Given the description of an element on the screen output the (x, y) to click on. 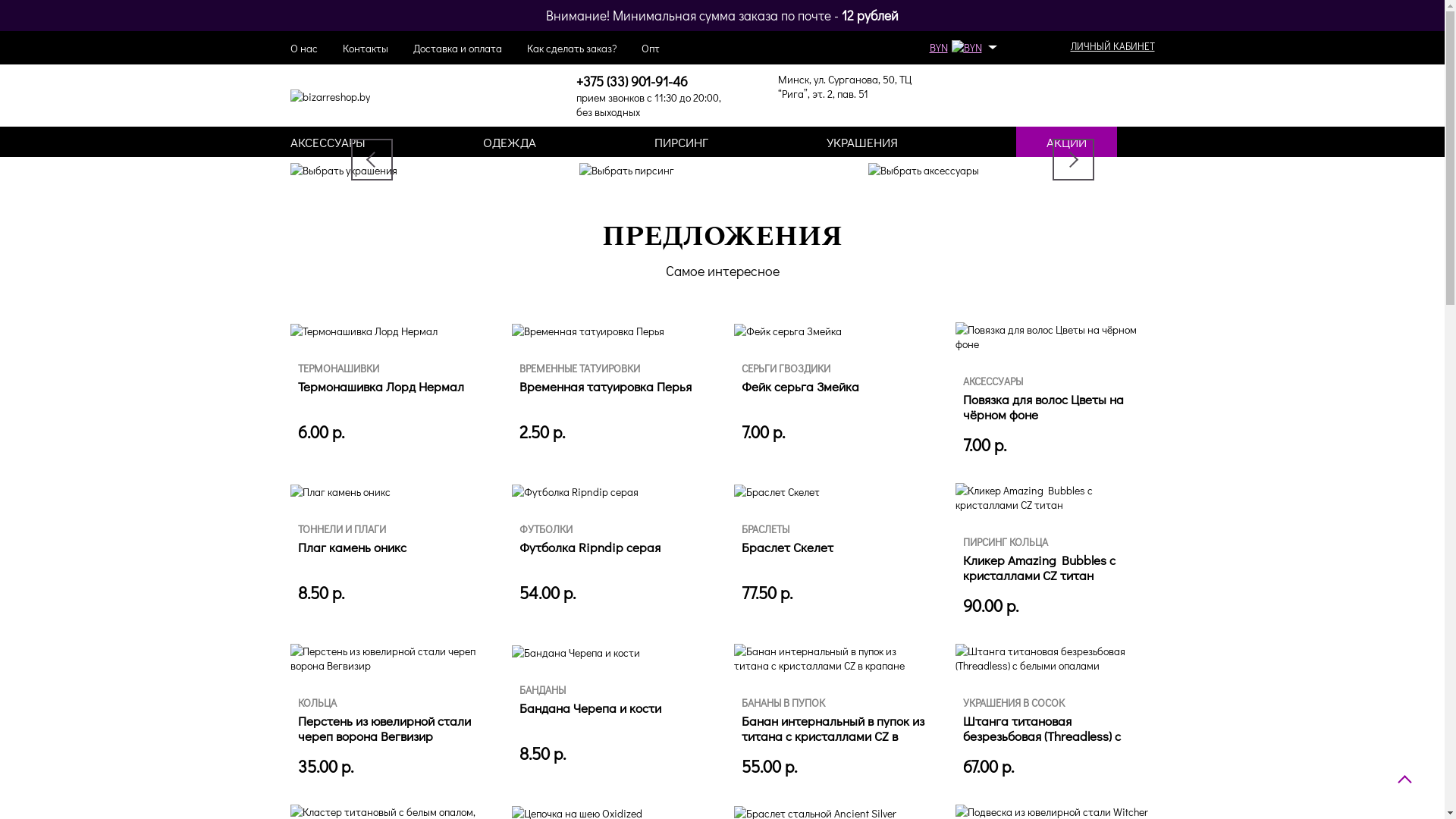
BYN Element type: hover (965, 47)
bizarreshop.by Element type: hover (329, 96)
+375 (33) 901-91-46 Element type: text (631, 81)
BYN Element type: text (960, 47)
